Given the description of an element on the screen output the (x, y) to click on. 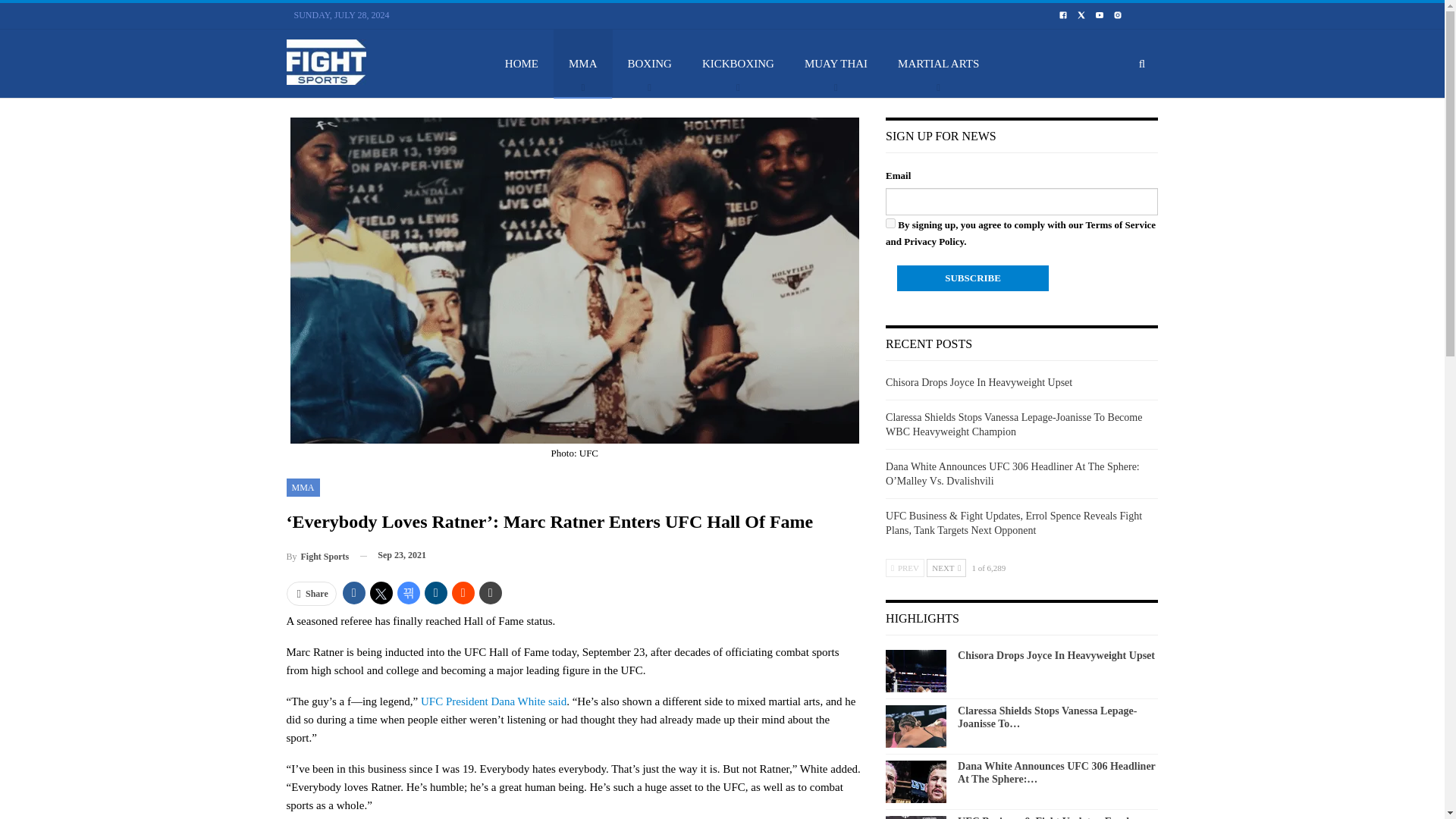
twitter (1081, 14)
facebook (1062, 14)
on (890, 223)
twitter (1080, 13)
KICKBOXING (738, 63)
facebook (1062, 13)
youtube (1098, 14)
BOXING (649, 63)
instagram (1117, 14)
youtube (1099, 13)
Subscribe (972, 278)
instagram (1117, 13)
HOME (521, 63)
